Given the description of an element on the screen output the (x, y) to click on. 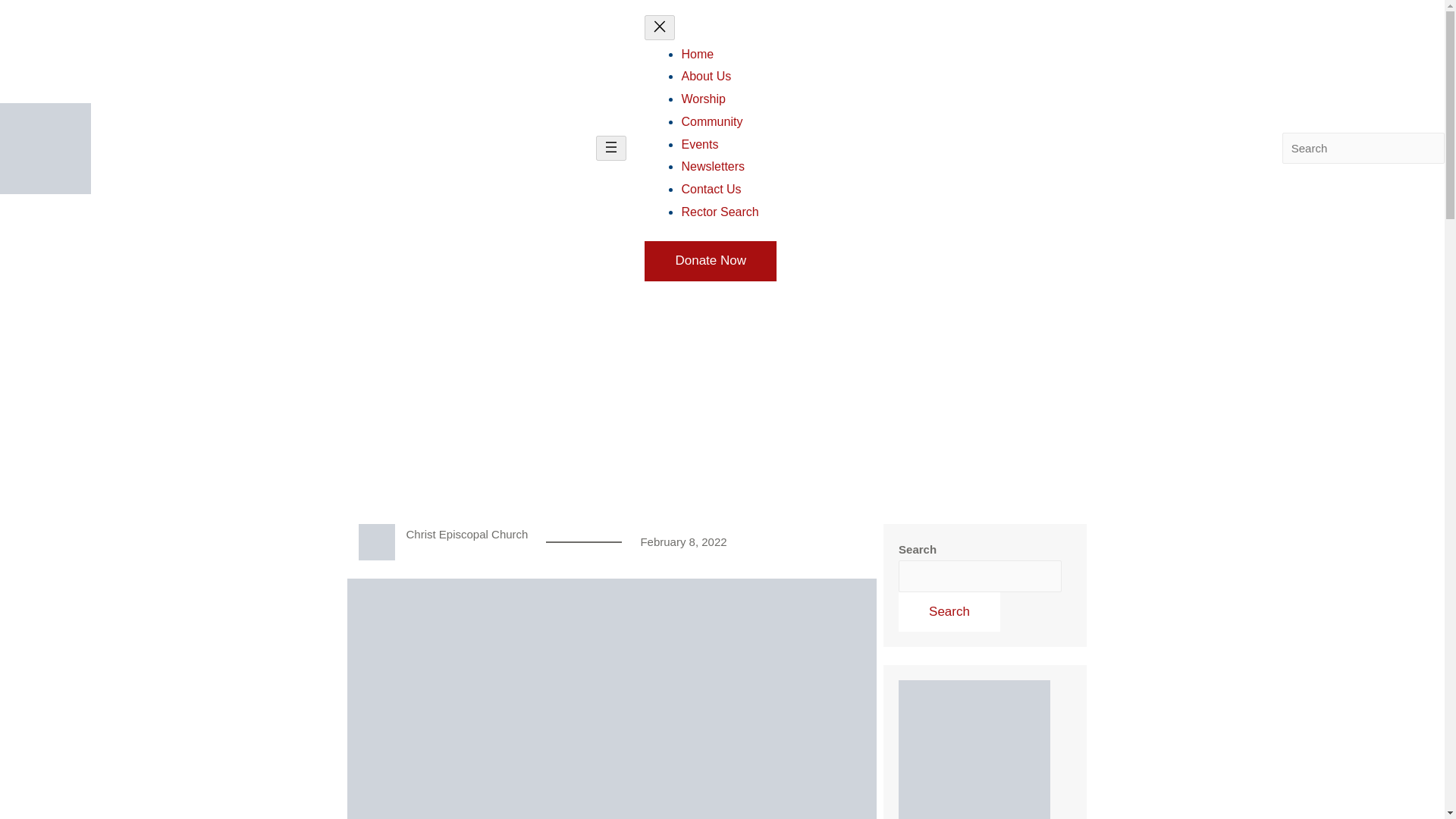
Donate Now (710, 260)
About Us (705, 75)
Home (697, 53)
Events (699, 144)
Newsletters (712, 165)
Rector Search (719, 211)
Community (711, 121)
Worship (703, 98)
Contact Us (711, 188)
Search (949, 612)
